Given the description of an element on the screen output the (x, y) to click on. 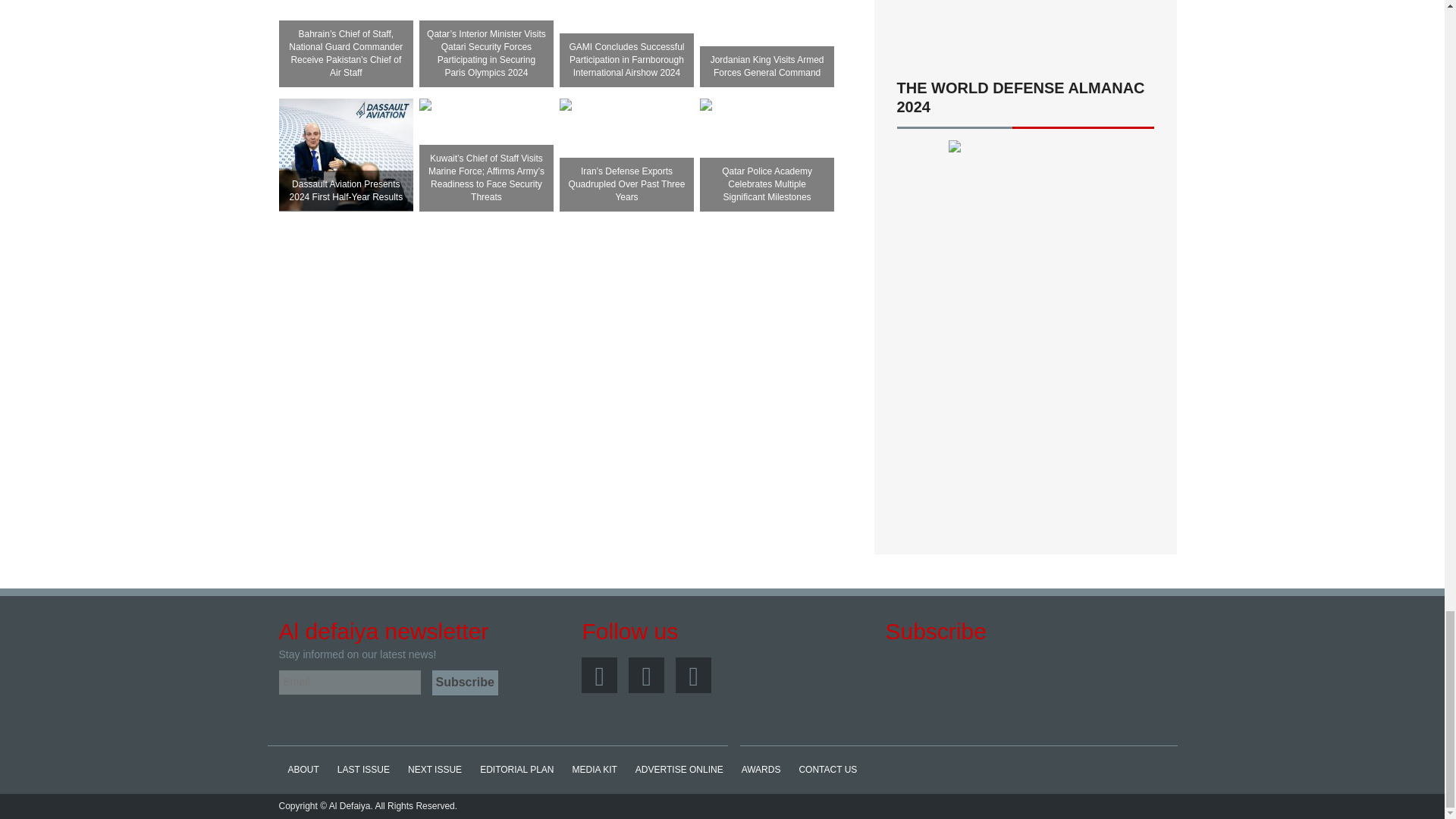
Dassault Aviation Presents 2024 First Half-Year Results (346, 154)
Subscribe (464, 682)
Jordanian King Visits Armed Forces General Command (767, 13)
